Given the description of an element on the screen output the (x, y) to click on. 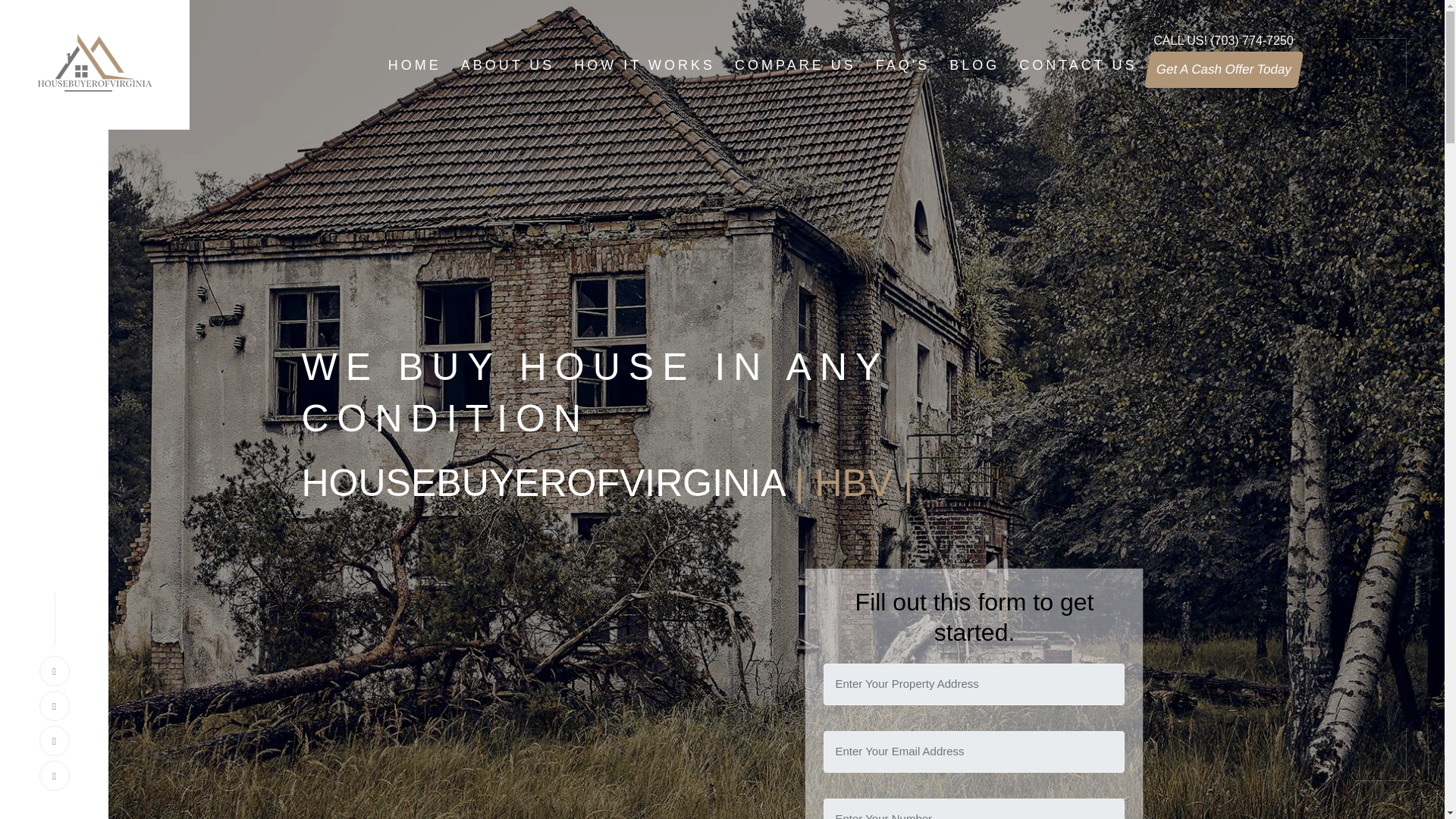
HOME (413, 64)
CONTACT US (1077, 64)
Get A Cash Offer Today (1219, 69)
BLOG (974, 64)
FAQ'S (902, 64)
HOW IT WORKS (643, 64)
ABOUT US (507, 64)
COMPARE US (795, 64)
